Given the description of an element on the screen output the (x, y) to click on. 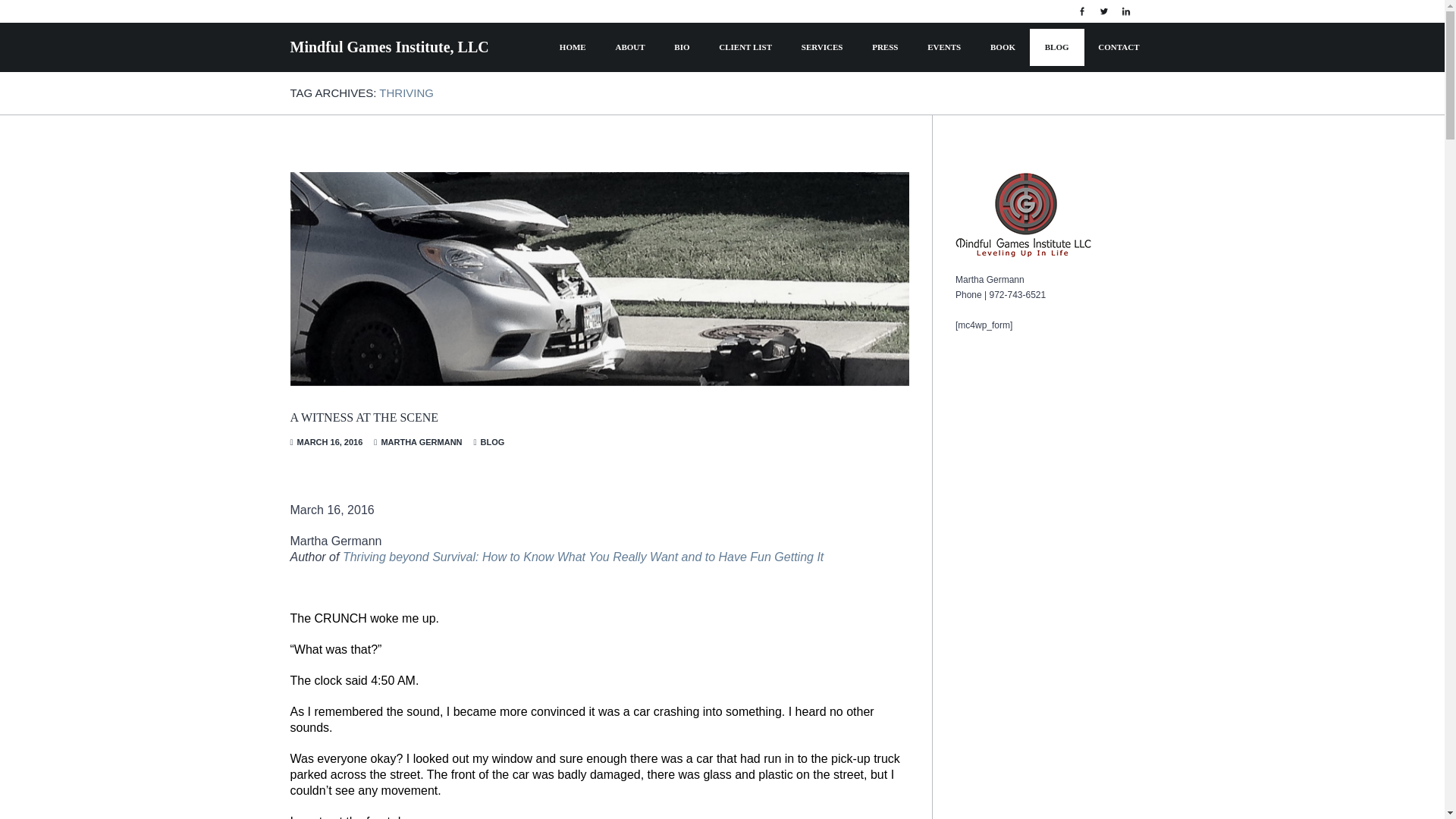
CLIENT LIST (745, 47)
Facebook (1081, 10)
SKIP TO SECONDARY CONTENT (609, 40)
SKIP TO PRIMARY CONTENT (603, 40)
Skip to primary content (603, 40)
BLOG (1056, 47)
Mindful Games Institute, LLC (388, 47)
Martha Germann (420, 441)
Linkedin (1125, 10)
HOME (572, 47)
SERVICES (822, 47)
FACEBOOK (1081, 10)
BLOG (492, 441)
BIO (681, 47)
CONTACT (1118, 47)
